Given the description of an element on the screen output the (x, y) to click on. 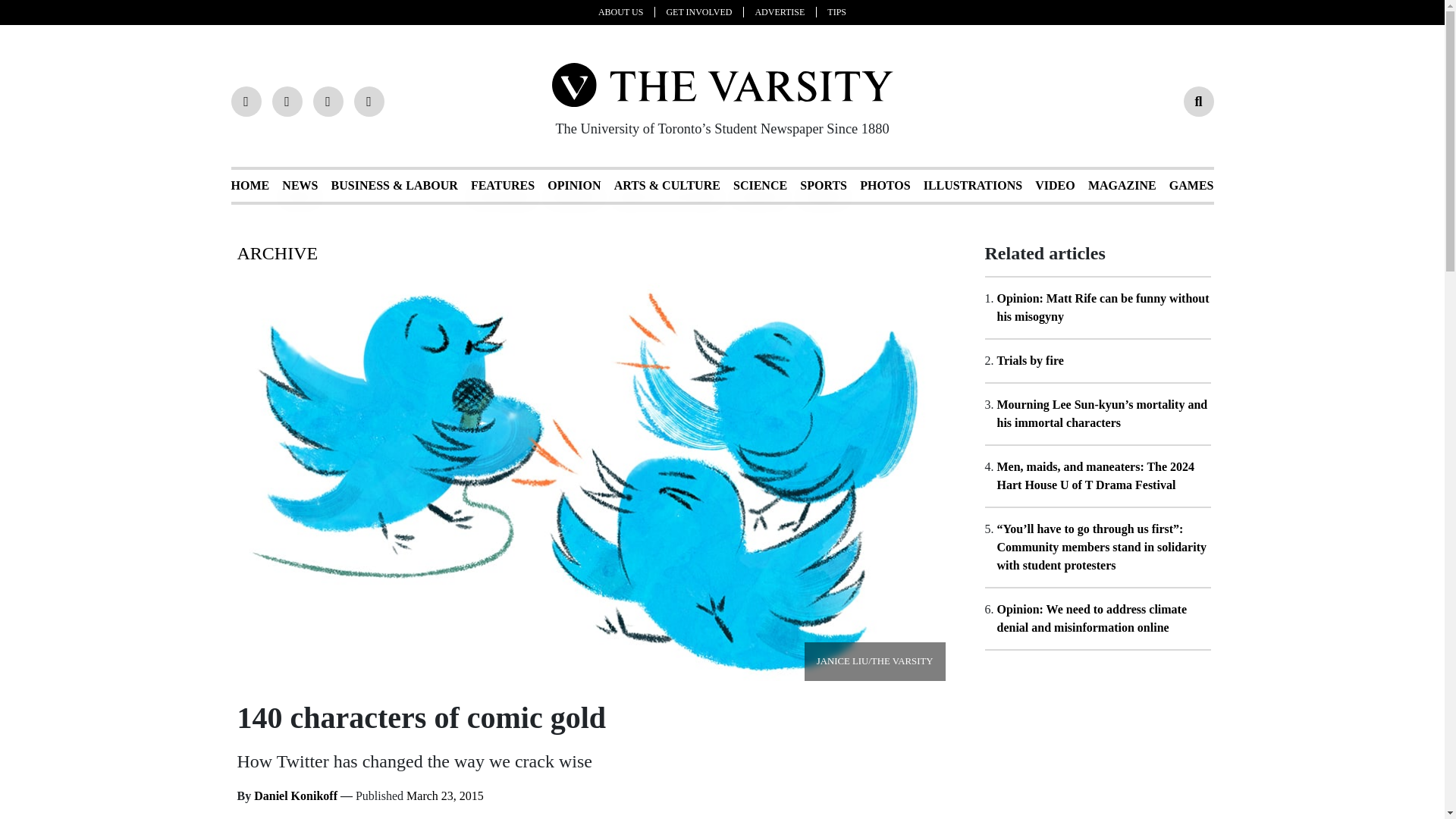
Trials by fire (1028, 359)
ABOUT US (626, 11)
TIPS (836, 11)
GET INVOLVED (704, 11)
Opinion: Matt Rife can be funny without his misogyny (1101, 306)
ADVERTISE (785, 11)
